Given the description of an element on the screen output the (x, y) to click on. 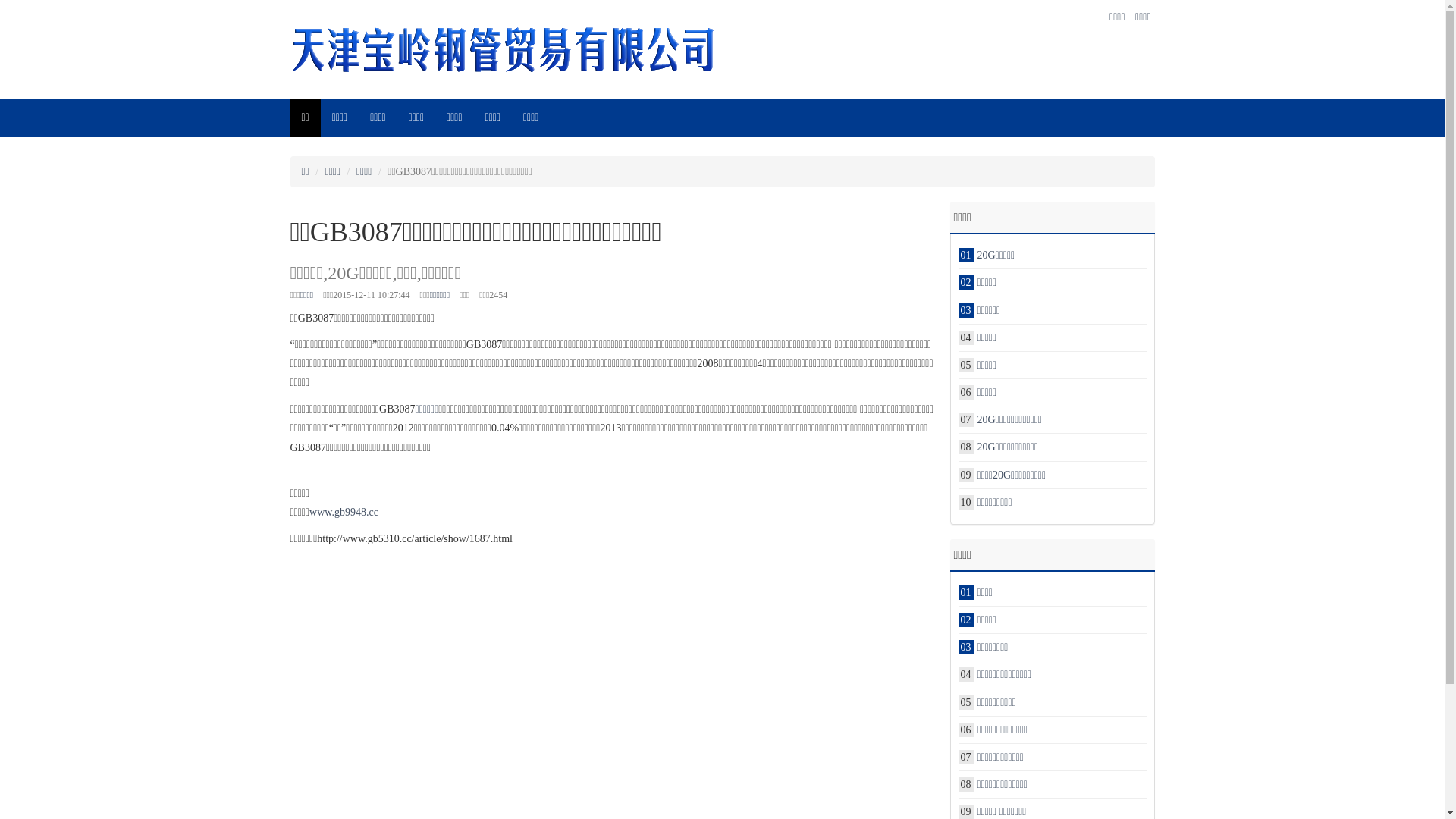
www.gb9948.cc Element type: text (343, 511)
